Given the description of an element on the screen output the (x, y) to click on. 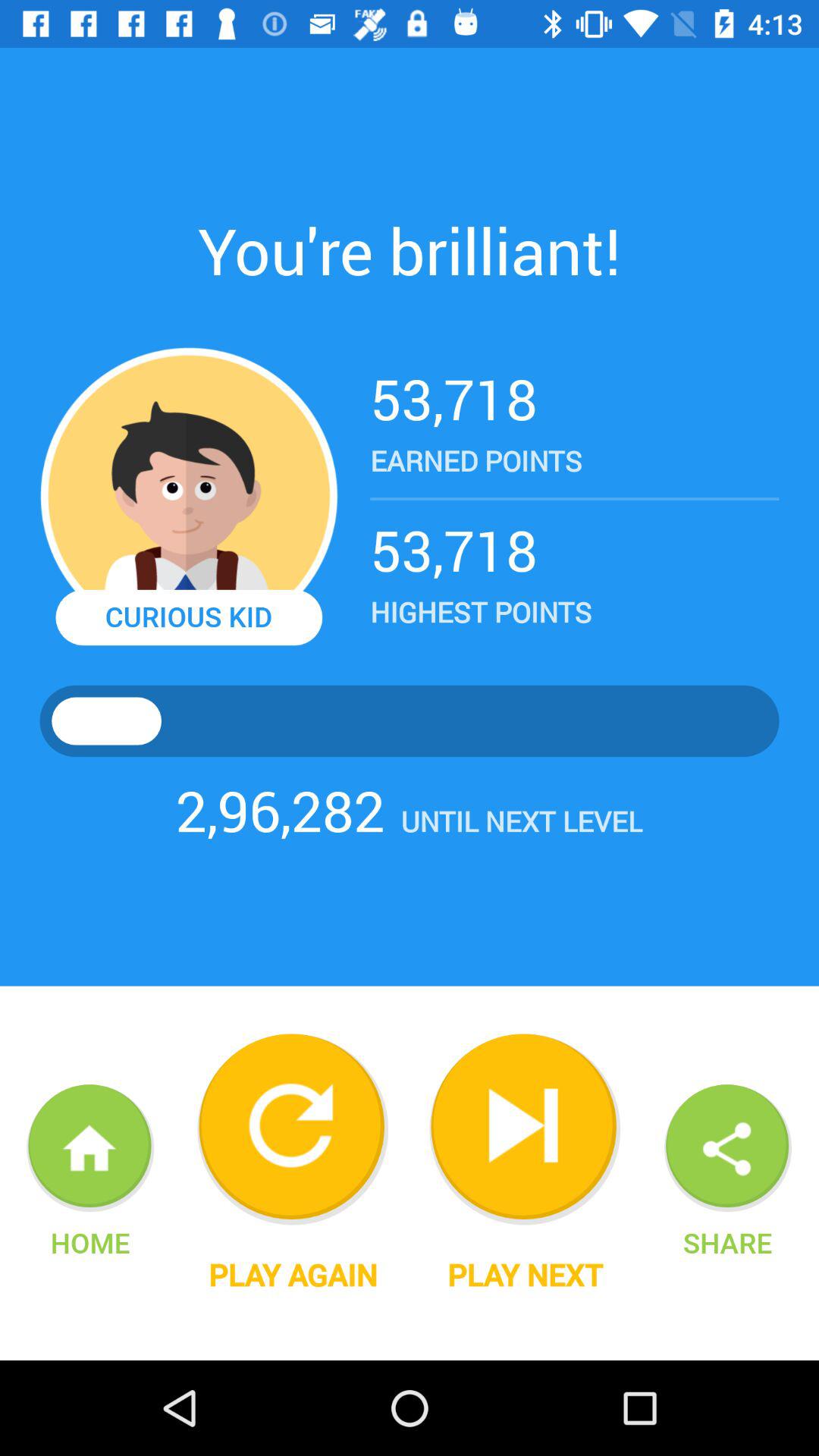
jump until share icon (727, 1242)
